Given the description of an element on the screen output the (x, y) to click on. 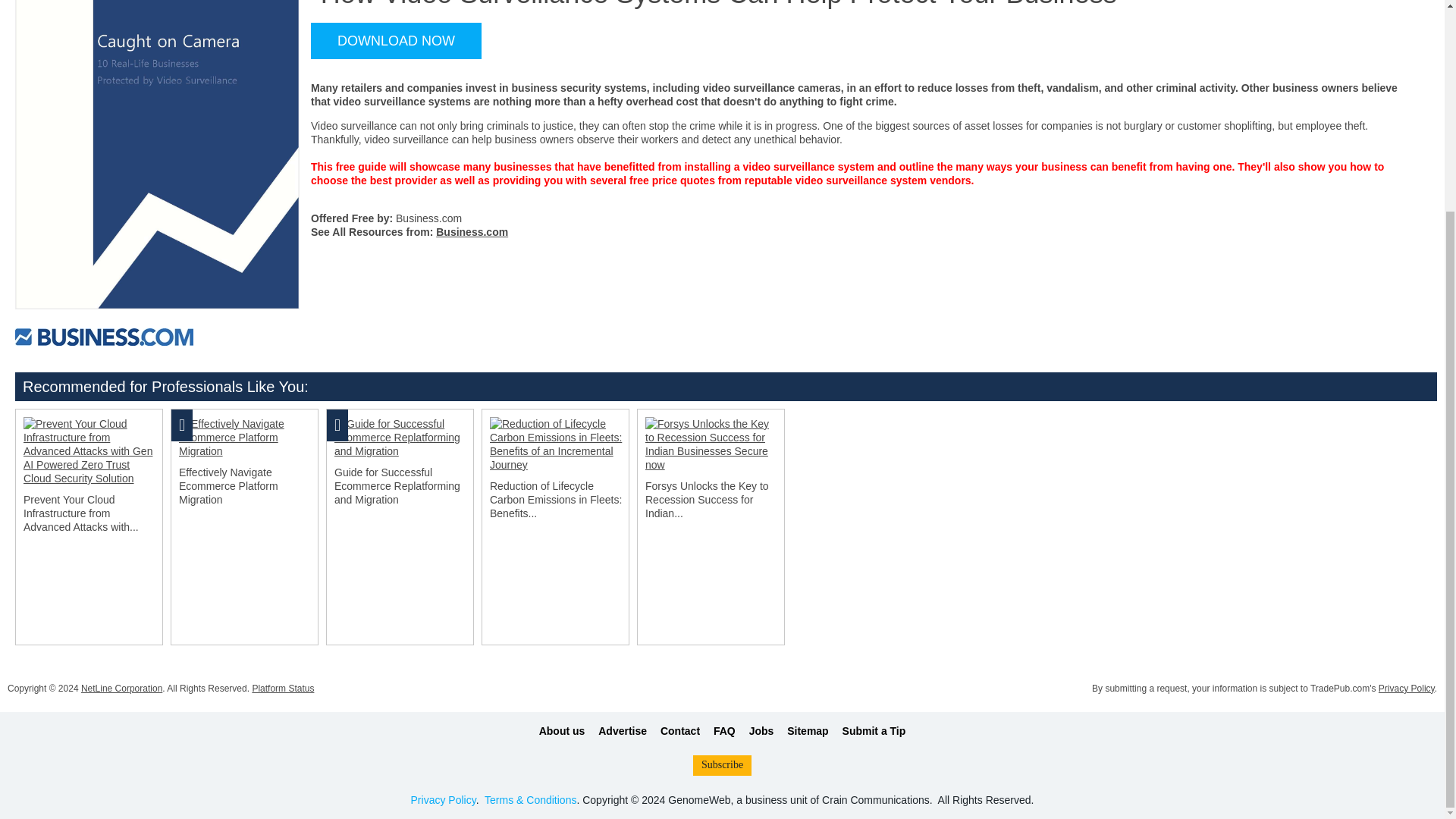
Privacy Policy (443, 799)
A text sitemap of the website. (807, 730)
Terms and conditions (530, 799)
Get answers to frequently-asked questions. (724, 730)
